Given the description of an element on the screen output the (x, y) to click on. 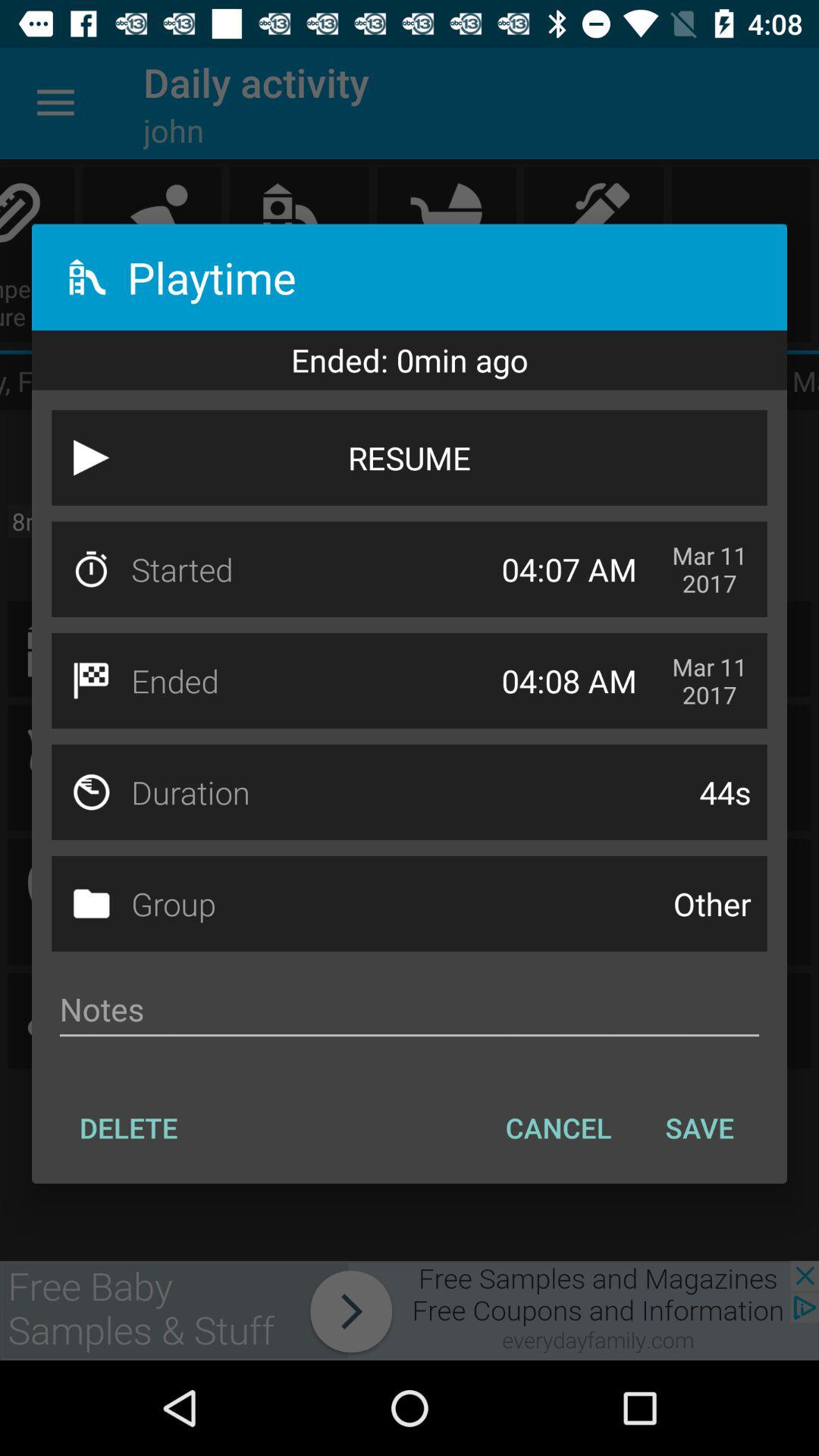
turn off the icon to the right of the delete item (558, 1127)
